Given the description of an element on the screen output the (x, y) to click on. 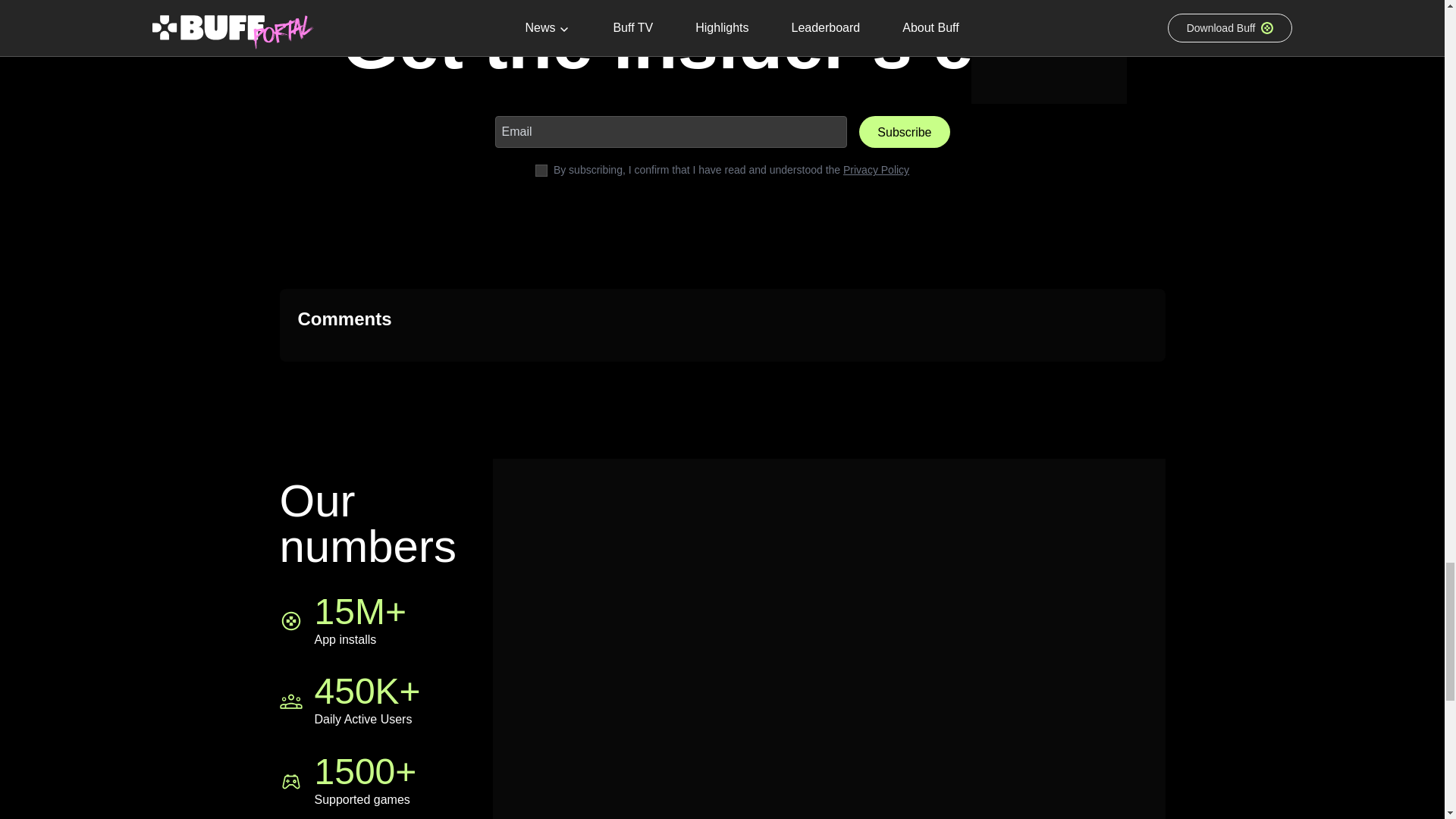
on (541, 170)
